Given the description of an element on the screen output the (x, y) to click on. 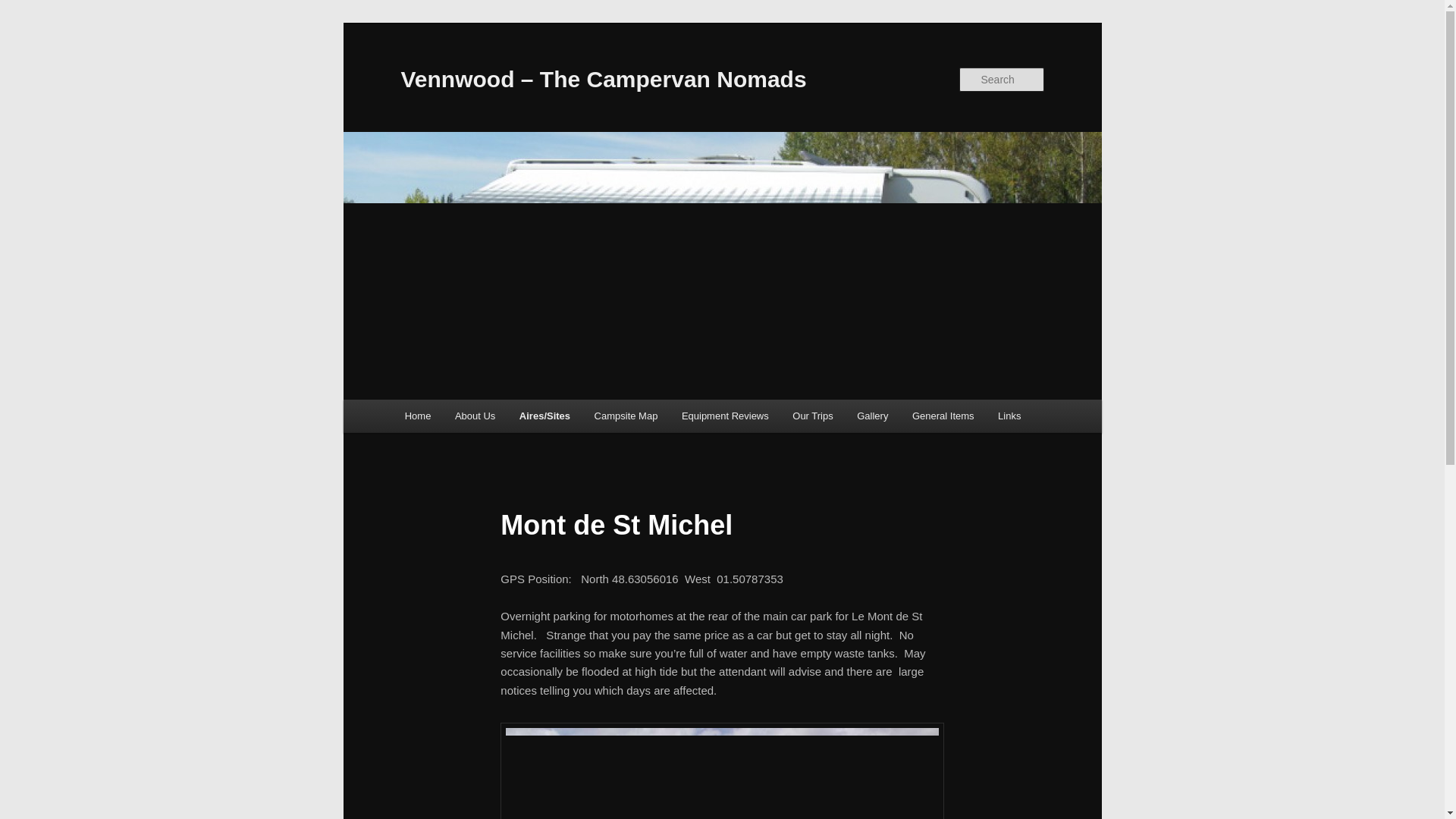
Search (24, 8)
mont st michel (721, 770)
About Us (474, 415)
Home (417, 415)
